Given the description of an element on the screen output the (x, y) to click on. 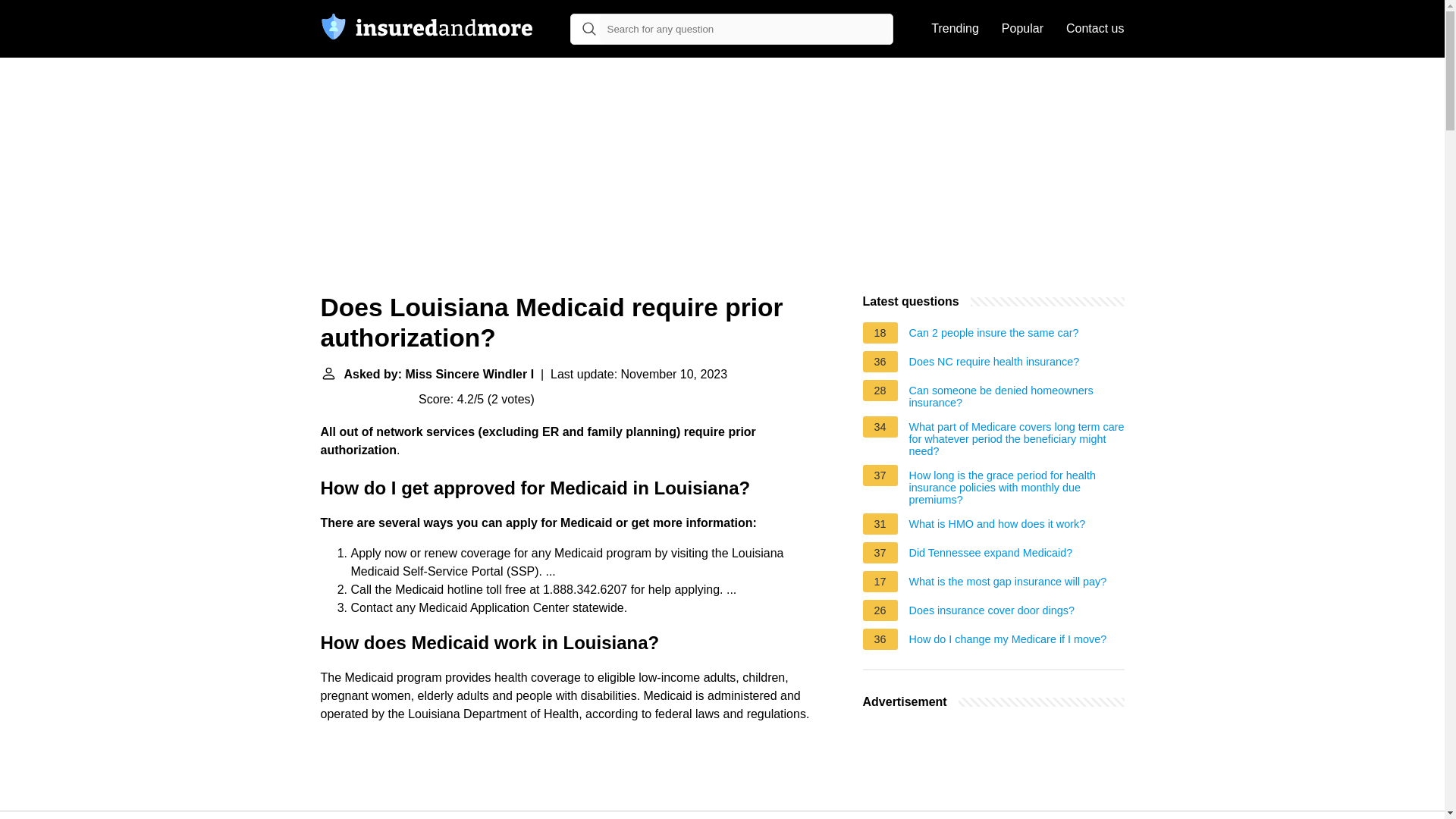
Does NC require health insurance? (994, 363)
Does insurance cover door dings? (991, 612)
How do I change my Medicare if I move? (1007, 641)
Can 2 people insure the same car? (993, 334)
Trending (954, 28)
Can someone be denied homeowners insurance? (1016, 396)
Contact us (1094, 28)
What is the most gap insurance will pay? (1007, 583)
Did Tennessee expand Medicaid? (990, 555)
What is HMO and how does it work? (997, 525)
Popular (1022, 28)
